Given the description of an element on the screen output the (x, y) to click on. 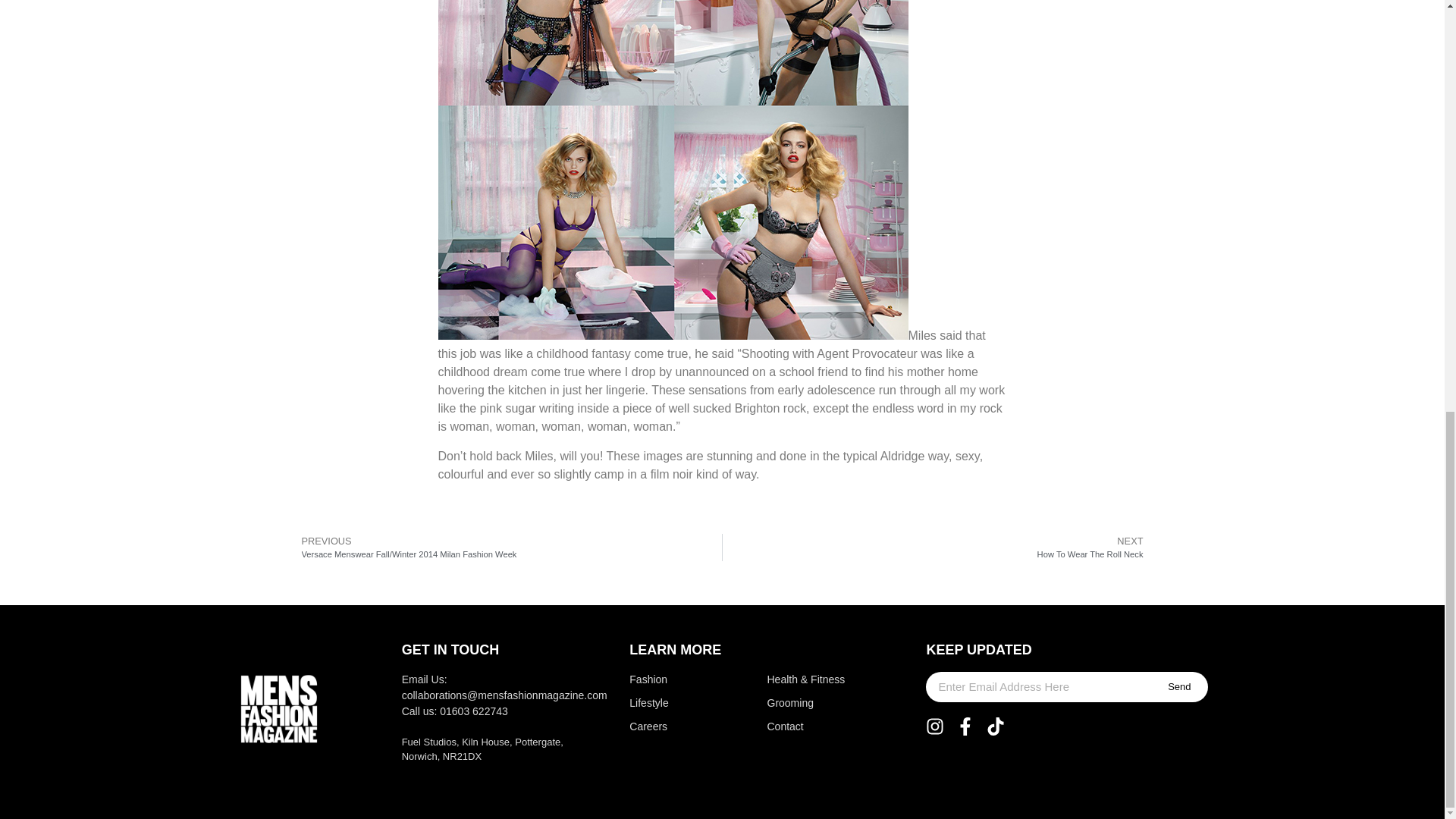
Fashion (667, 679)
Contact (807, 726)
Grooming (807, 703)
Send (1179, 686)
Lifestyle (667, 703)
